Given the description of an element on the screen output the (x, y) to click on. 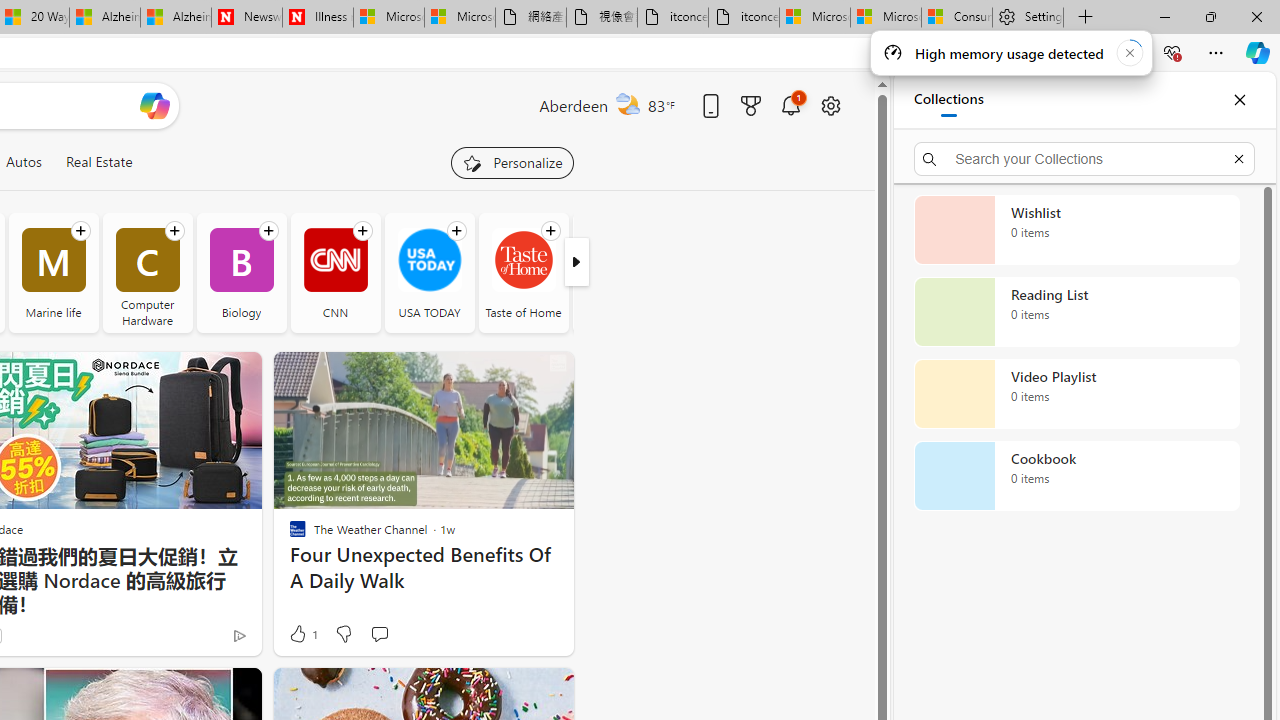
Video Playlist collection, 0 items (1076, 394)
itconcepthk.com/projector_solutions.mp4 (744, 17)
Taste of Home (523, 260)
Consumer Health Data Privacy Policy (956, 17)
Partly cloudy (628, 104)
Real Estate (98, 161)
Hide this story (512, 691)
Real Estate (98, 162)
Newsweek - News, Analysis, Politics, Business, Technology (246, 17)
